Given the description of an element on the screen output the (x, y) to click on. 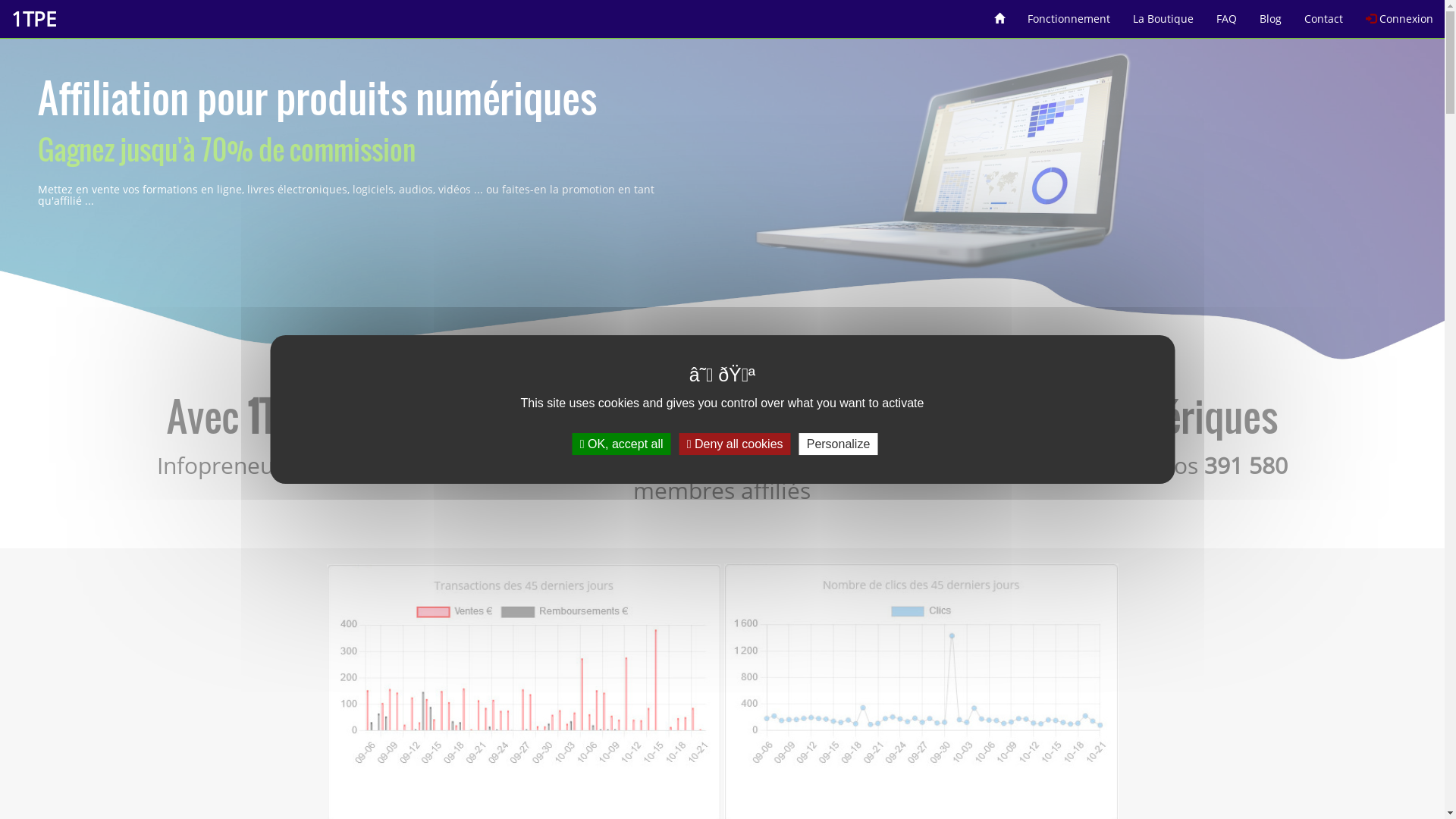
La Boutique Element type: text (1162, 13)
1TPE Element type: text (33, 18)
Fonctionnement Element type: text (1068, 13)
OK, accept all Element type: text (621, 444)
Contact Element type: text (1323, 13)
Deny all cookies Element type: text (734, 444)
Personalize Element type: text (838, 444)
Connexion Element type: text (1399, 13)
FAQ Element type: text (1226, 13)
Blog Element type: text (1270, 13)
